Given the description of an element on the screen output the (x, y) to click on. 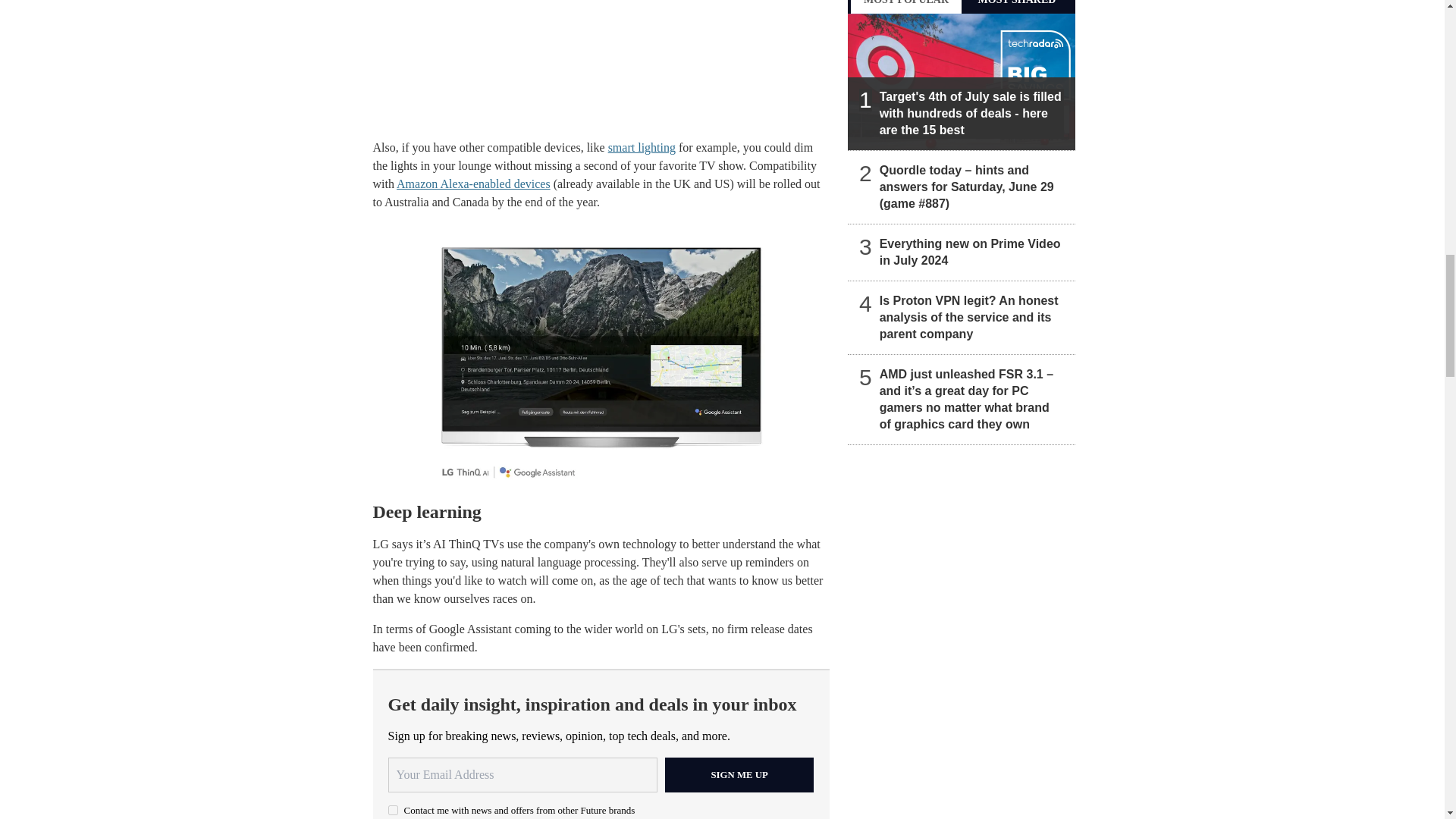
Sign me up (739, 774)
on (392, 809)
